Given the description of an element on the screen output the (x, y) to click on. 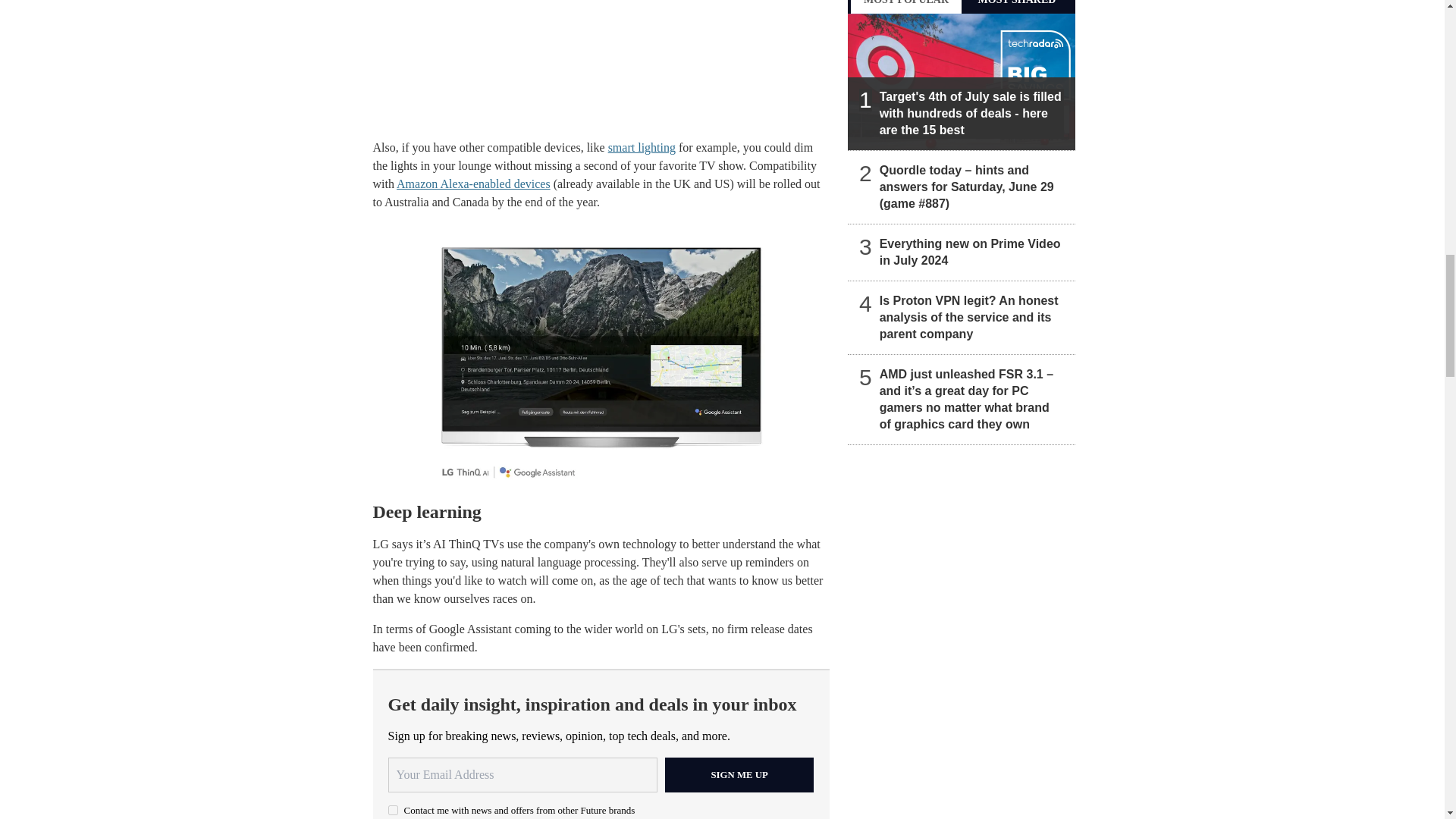
Sign me up (739, 774)
on (392, 809)
